Given the description of an element on the screen output the (x, y) to click on. 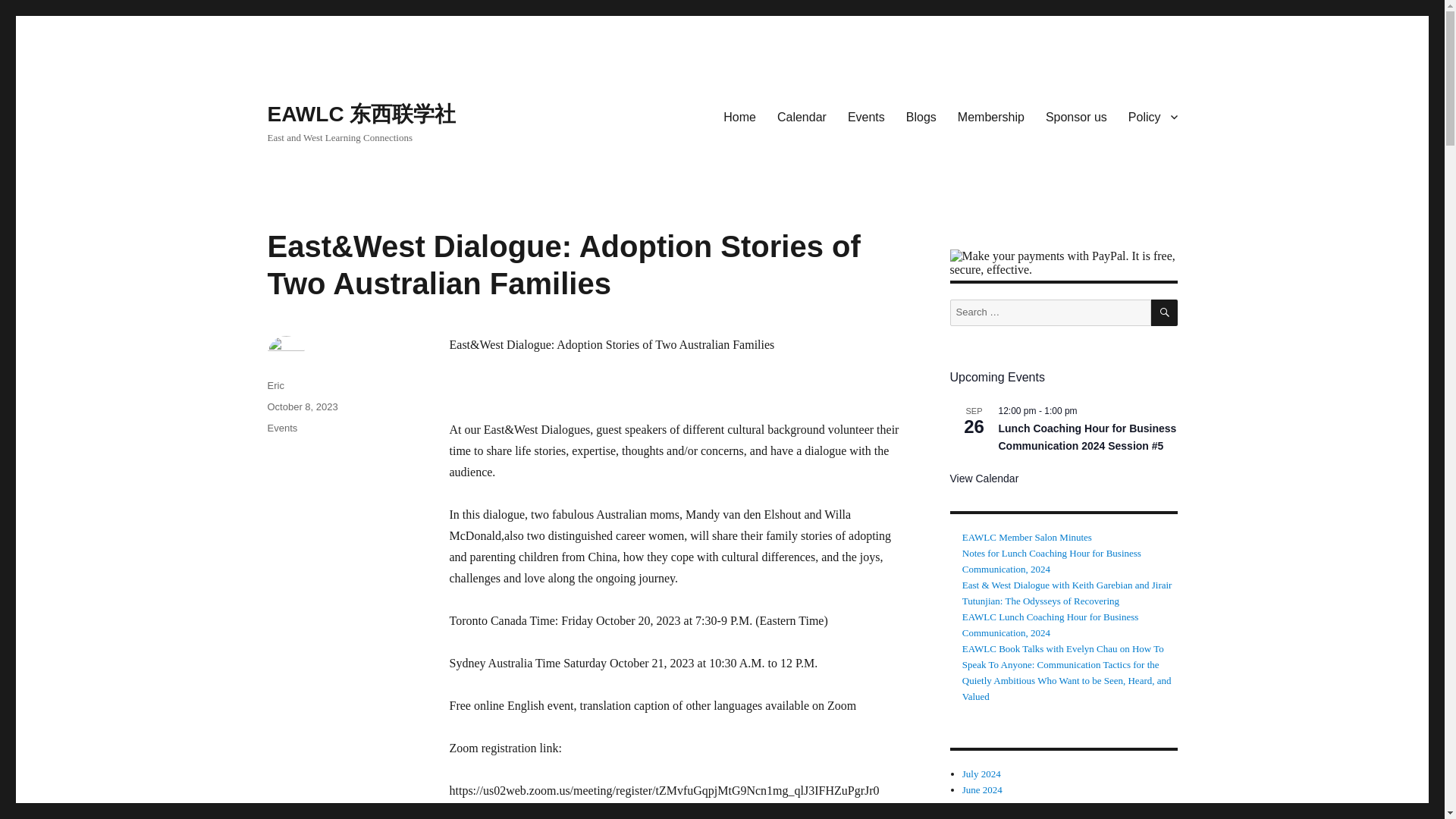
Events (281, 428)
Blogs (921, 116)
Home (740, 116)
Events (866, 116)
View more events. (983, 478)
Membership (991, 116)
Policy (1153, 116)
EAWLC Lunch Coaching Hour for Business Communication, 2024 (1050, 624)
Sponsor us (1076, 116)
